Given the description of an element on the screen output the (x, y) to click on. 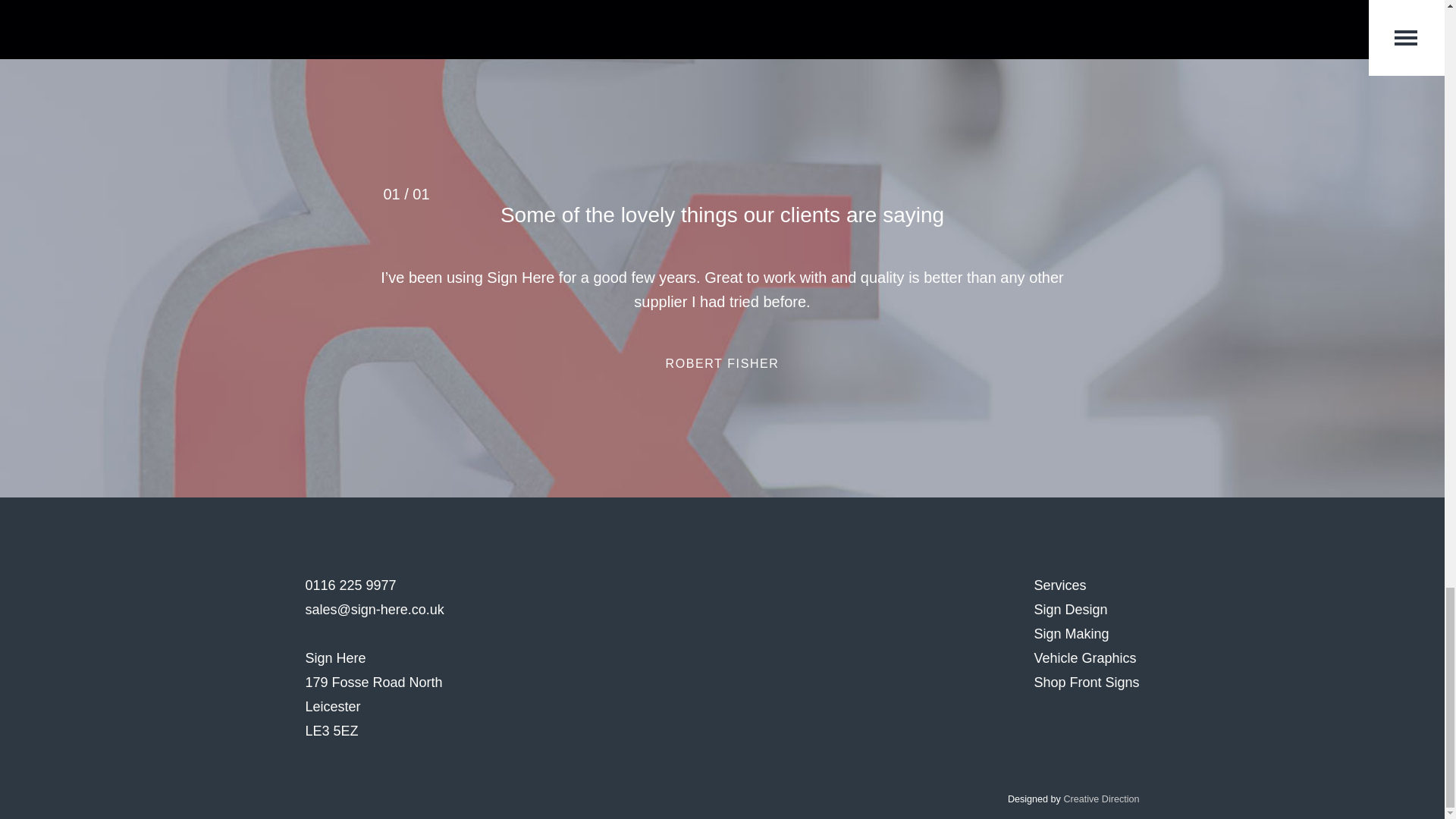
Sign Making (1070, 633)
Vehicle Graphics (1084, 657)
Sign Design (1069, 609)
Shop Front Signs (1085, 682)
Creative Direction (1100, 798)
